Given the description of an element on the screen output the (x, y) to click on. 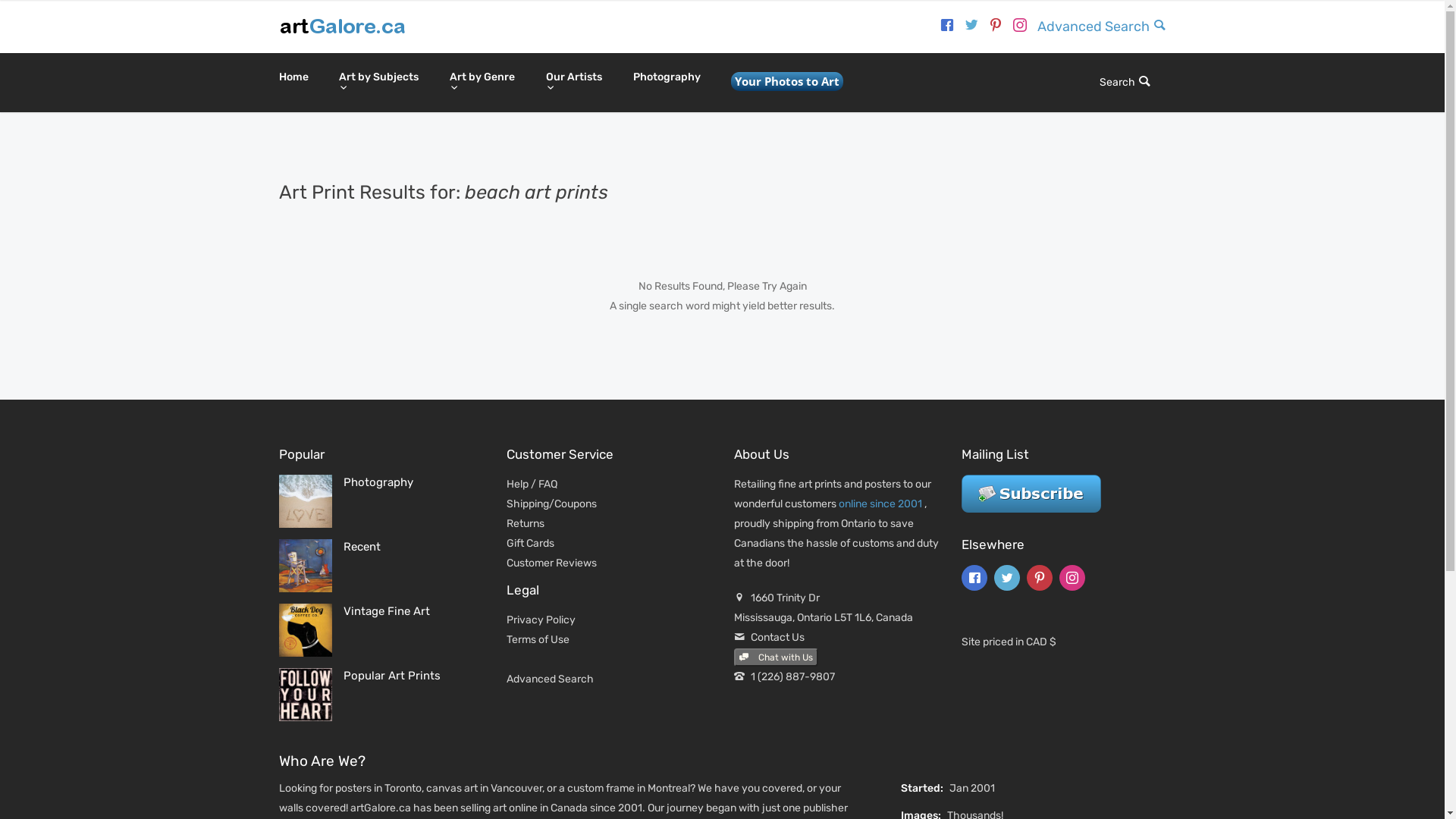
Search Element type: text (1125, 81)
Popular Art Prints Element type: text (390, 675)
Advanced Search Element type: text (1101, 26)
Photography Element type: text (377, 482)
Gift Cards Element type: text (530, 542)
Vintage Fine Art Element type: text (385, 611)
Our Artists Element type: text (574, 82)
Advanced Search Element type: text (549, 678)
Privacy Policy Element type: text (540, 619)
Art by Subjects Element type: text (378, 82)
Shipping/Coupons Element type: text (551, 503)
online since 2001 Element type: text (880, 503)
Help / FAQ Element type: text (531, 483)
Customer Reviews Element type: text (551, 562)
Art by Genre Element type: text (481, 82)
Recent Element type: text (360, 546)
Photography Element type: text (665, 77)
Home Element type: text (293, 77)
Returns Element type: text (525, 523)
Terms of Use Element type: text (537, 639)
Chat with Us Element type: text (776, 657)
Contact Us Element type: text (777, 636)
